Given the description of an element on the screen output the (x, y) to click on. 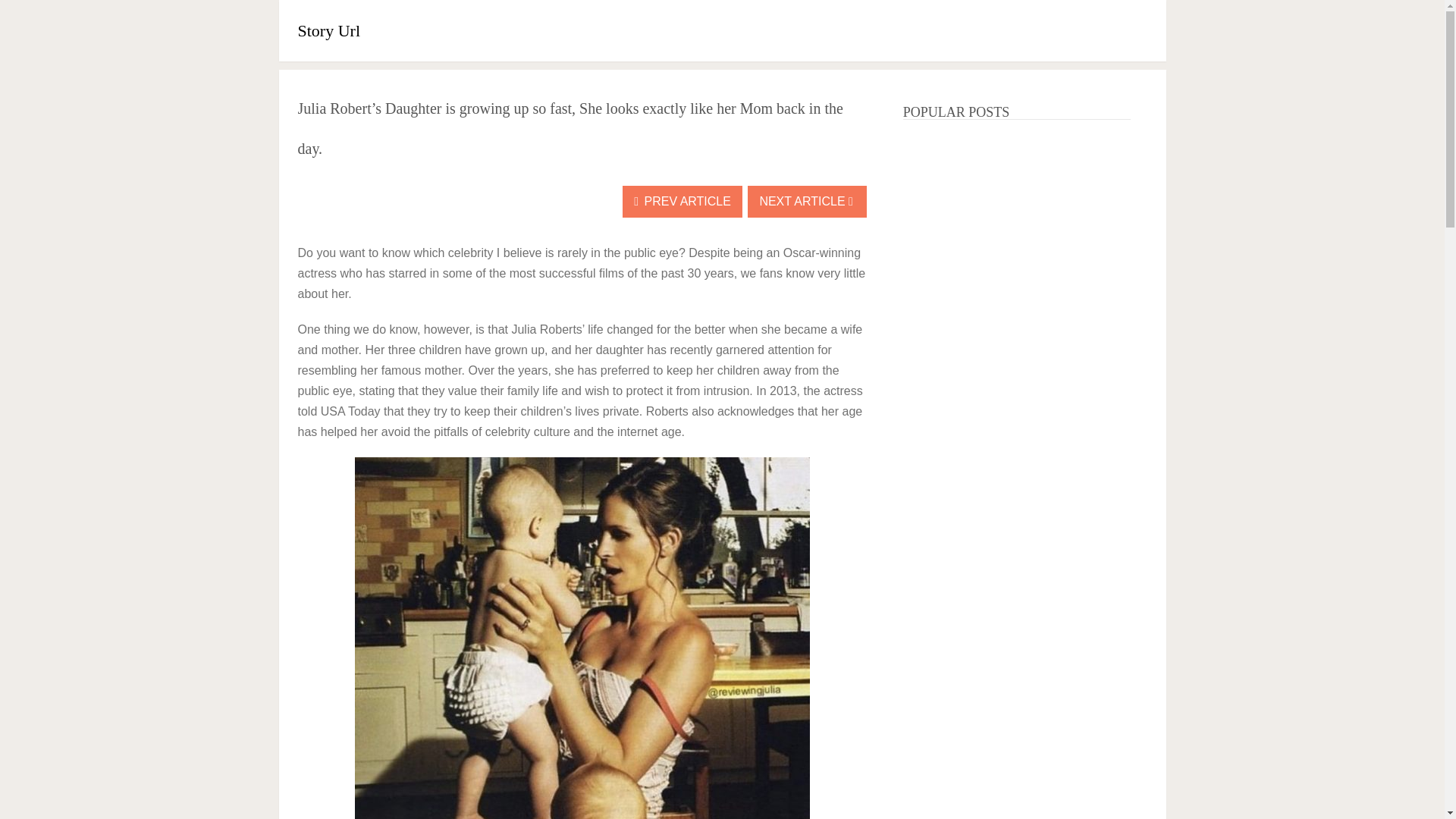
NEXT ARTICLE (807, 201)
Story Url (328, 30)
PREV ARTICLE (682, 201)
